Given the description of an element on the screen output the (x, y) to click on. 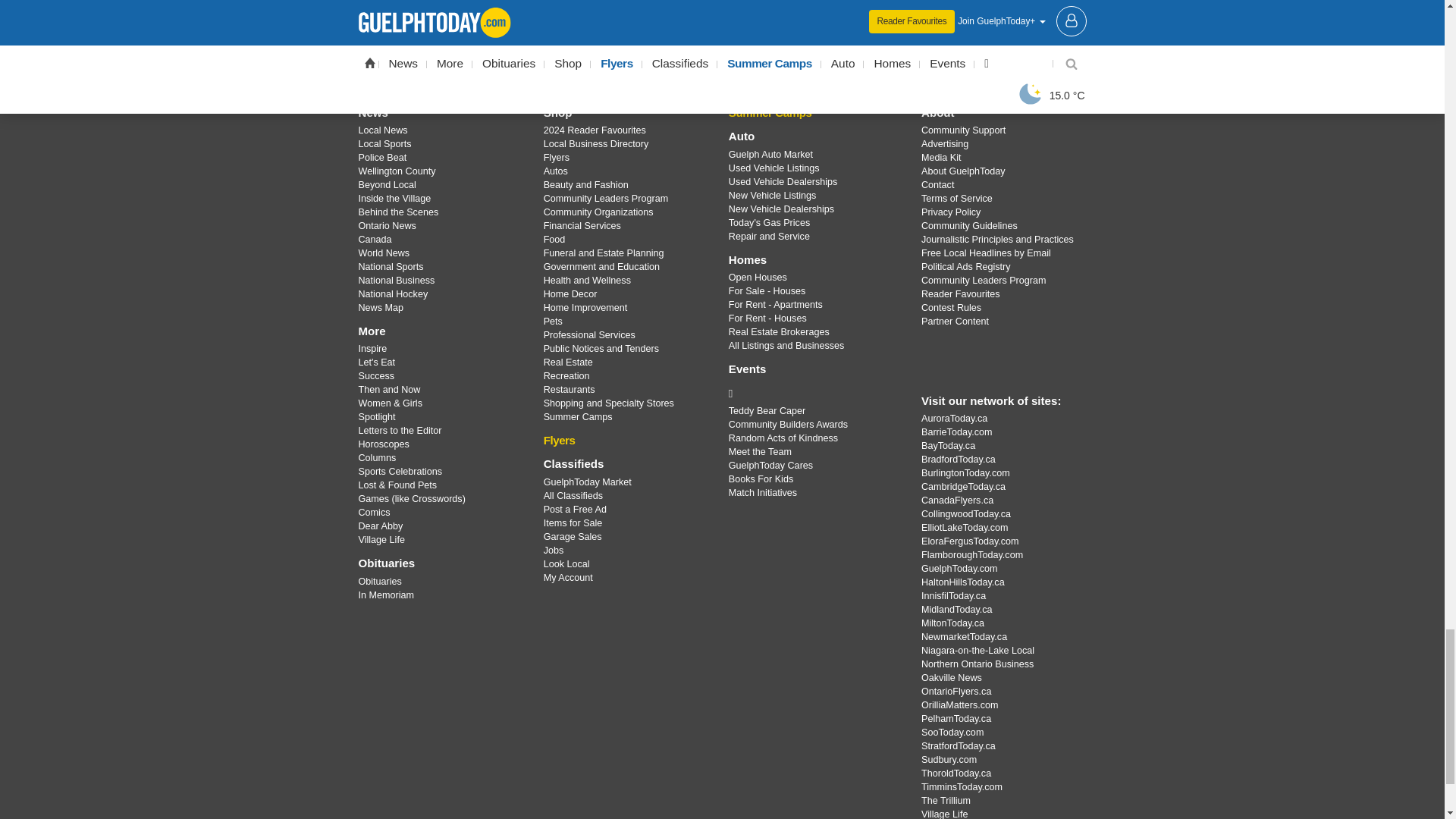
Facebook (683, 59)
Instagram (760, 59)
GuelphToday Cares (813, 393)
X (721, 59)
